Given the description of an element on the screen output the (x, y) to click on. 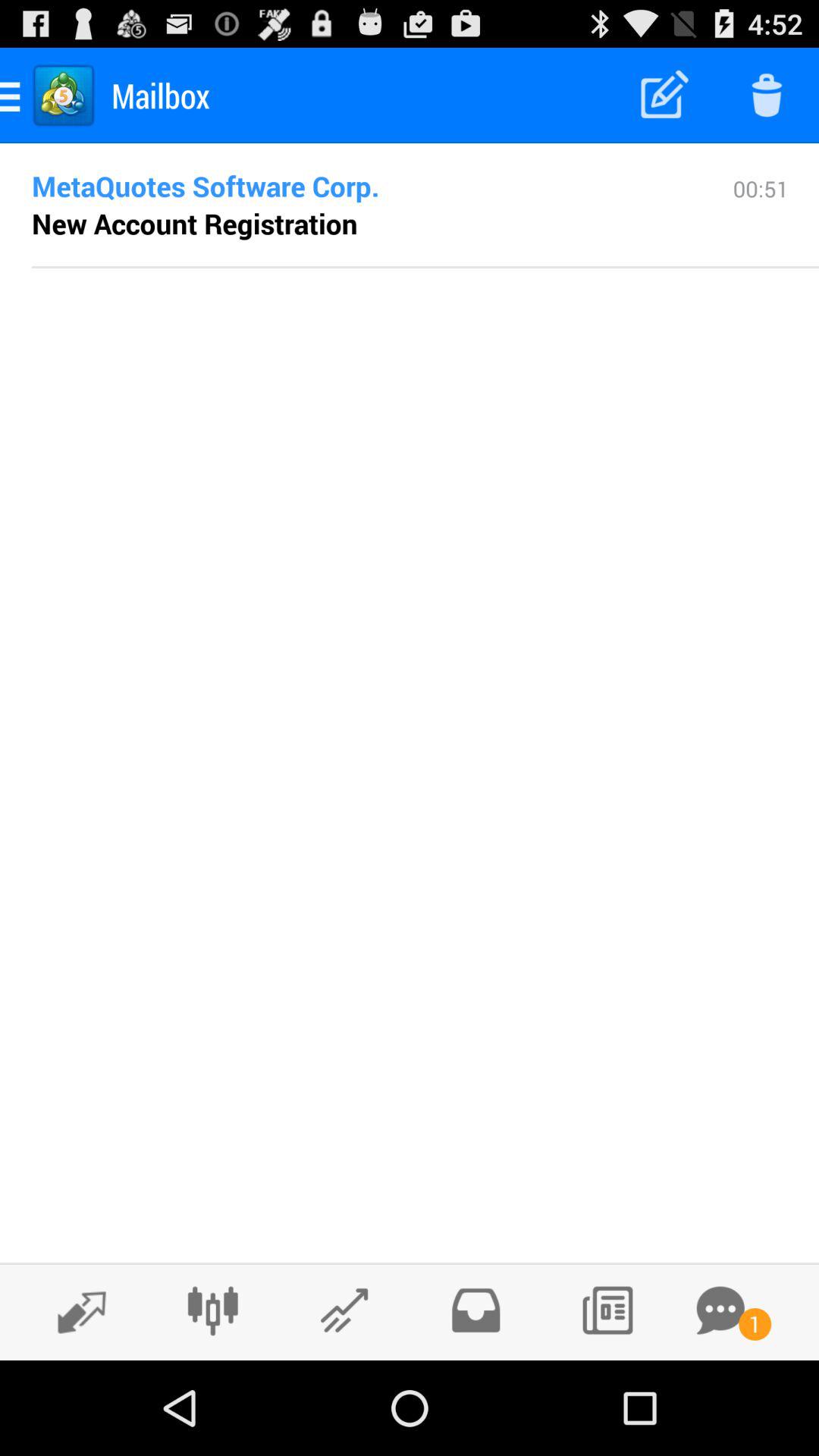
swipe to 00:51 (760, 219)
